Given the description of an element on the screen output the (x, y) to click on. 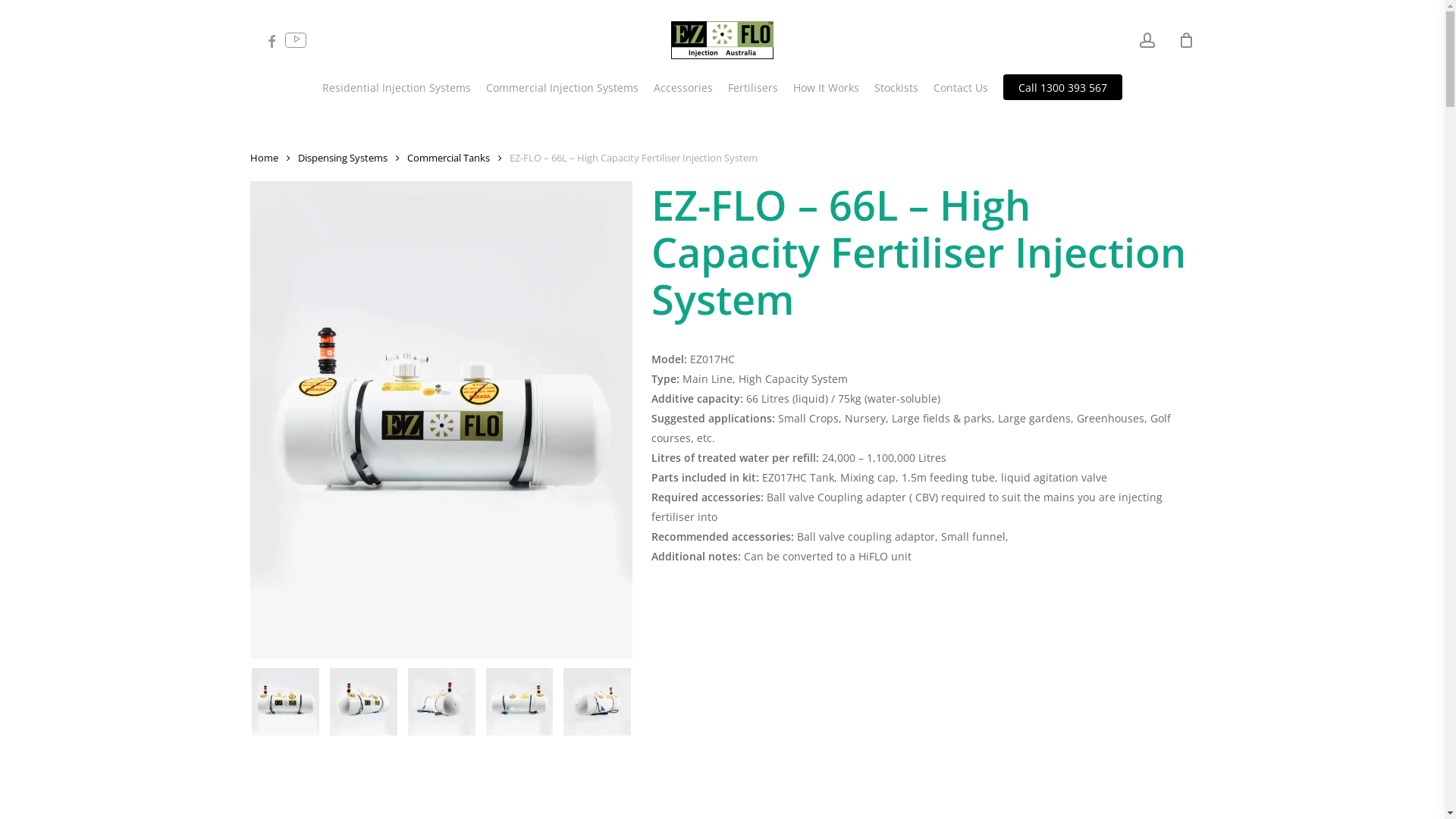
Commercial Tanks Element type: text (448, 157)
Residential Injection Systems Element type: text (396, 87)
Commercial Injection Systems Element type: text (562, 87)
facebook Element type: text (271, 39)
ez-flo-hc-38l-front Element type: hover (441, 419)
Stockists Element type: text (895, 87)
Home Element type: text (264, 157)
youtube Element type: text (298, 39)
Fertilisers Element type: text (752, 87)
Accessories Element type: text (683, 87)
Dispensing Systems Element type: text (342, 157)
Call 1300 393 567 Element type: text (1062, 87)
How It Works Element type: text (825, 87)
Contact Us Element type: text (960, 87)
account Element type: text (1147, 39)
